Given the description of an element on the screen output the (x, y) to click on. 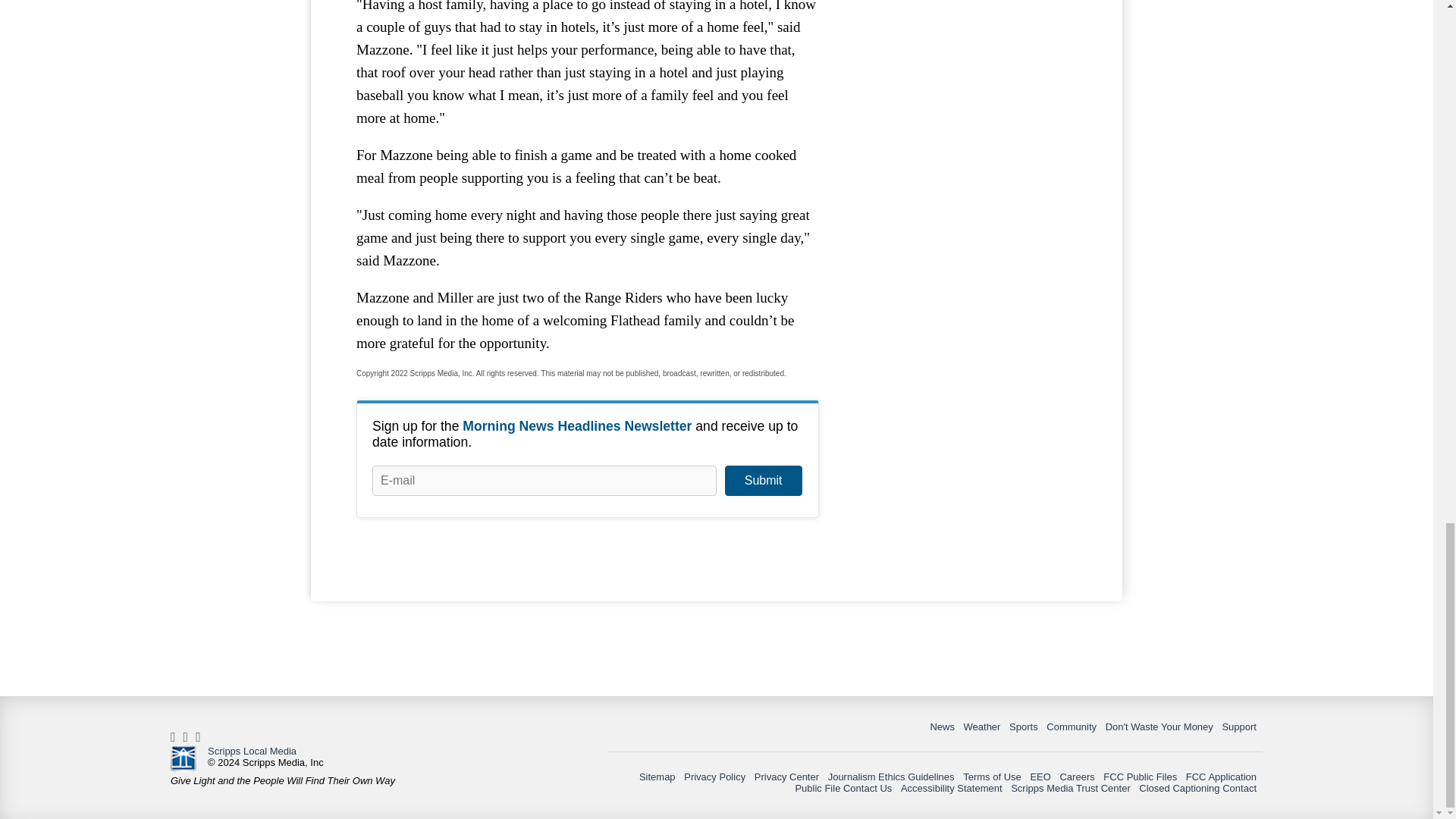
Submit (763, 481)
